Given the description of an element on the screen output the (x, y) to click on. 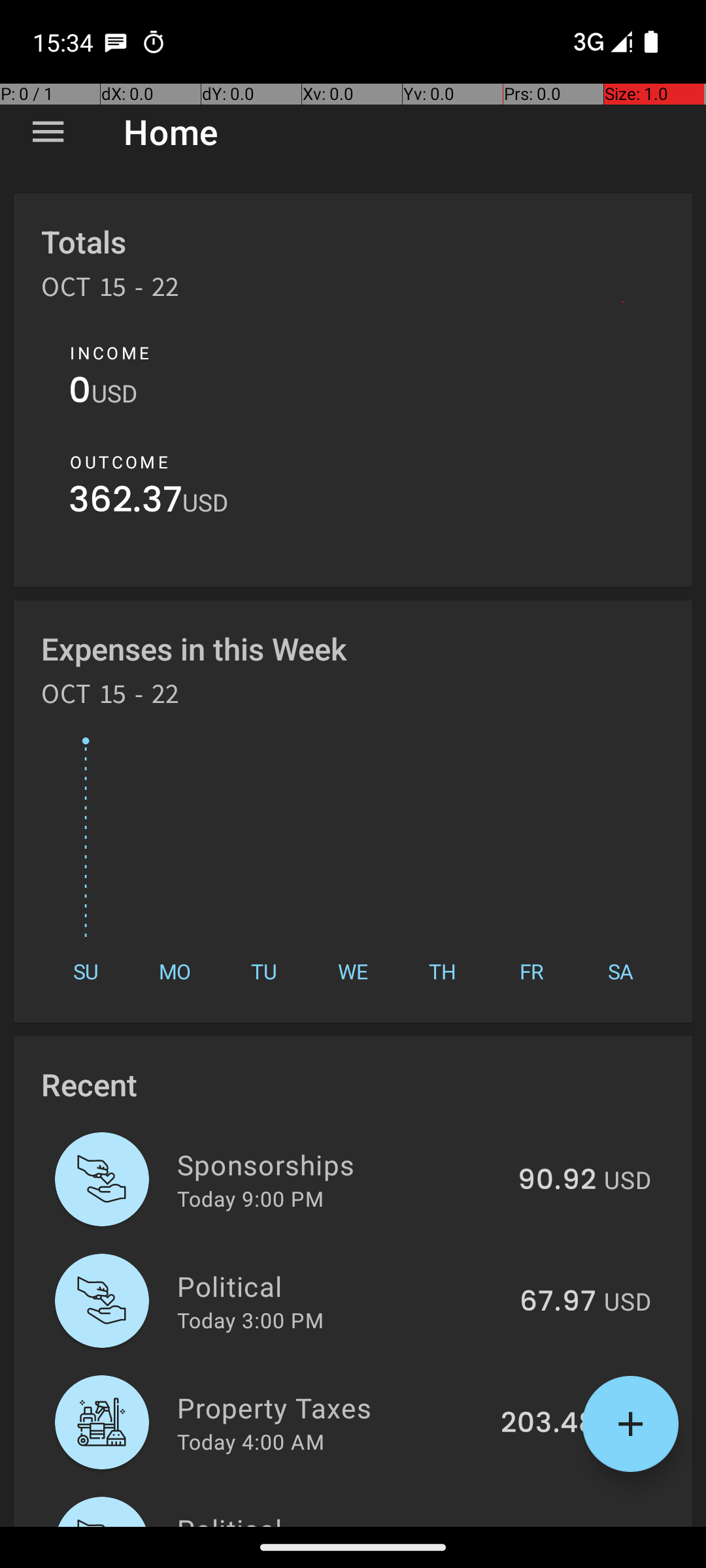
362.37 Element type: android.widget.TextView (125, 502)
Sponsorships Element type: android.widget.TextView (339, 1164)
90.92 Element type: android.widget.TextView (556, 1180)
67.97 Element type: android.widget.TextView (557, 1301)
Property Taxes Element type: android.widget.TextView (331, 1407)
Today 4:00 AM Element type: android.widget.TextView (250, 1441)
203.48 Element type: android.widget.TextView (548, 1423)
421.3 Element type: android.widget.TextView (561, 1524)
